Given the description of an element on the screen output the (x, y) to click on. 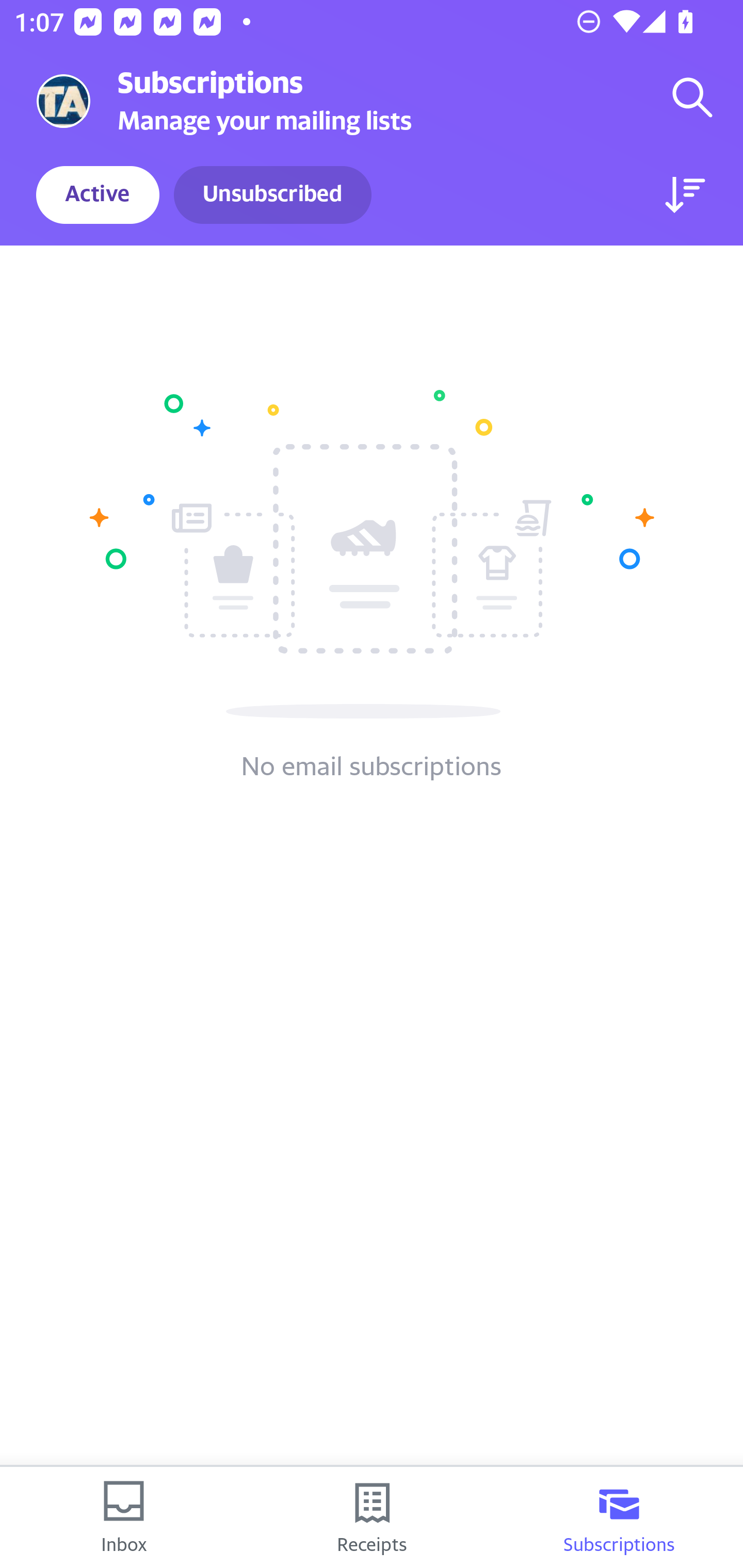
Search mail (692, 97)
Unsubscribed (272, 195)
Sort (684, 195)
Inbox (123, 1517)
Receipts (371, 1517)
Subscriptions (619, 1517)
